Given the description of an element on the screen output the (x, y) to click on. 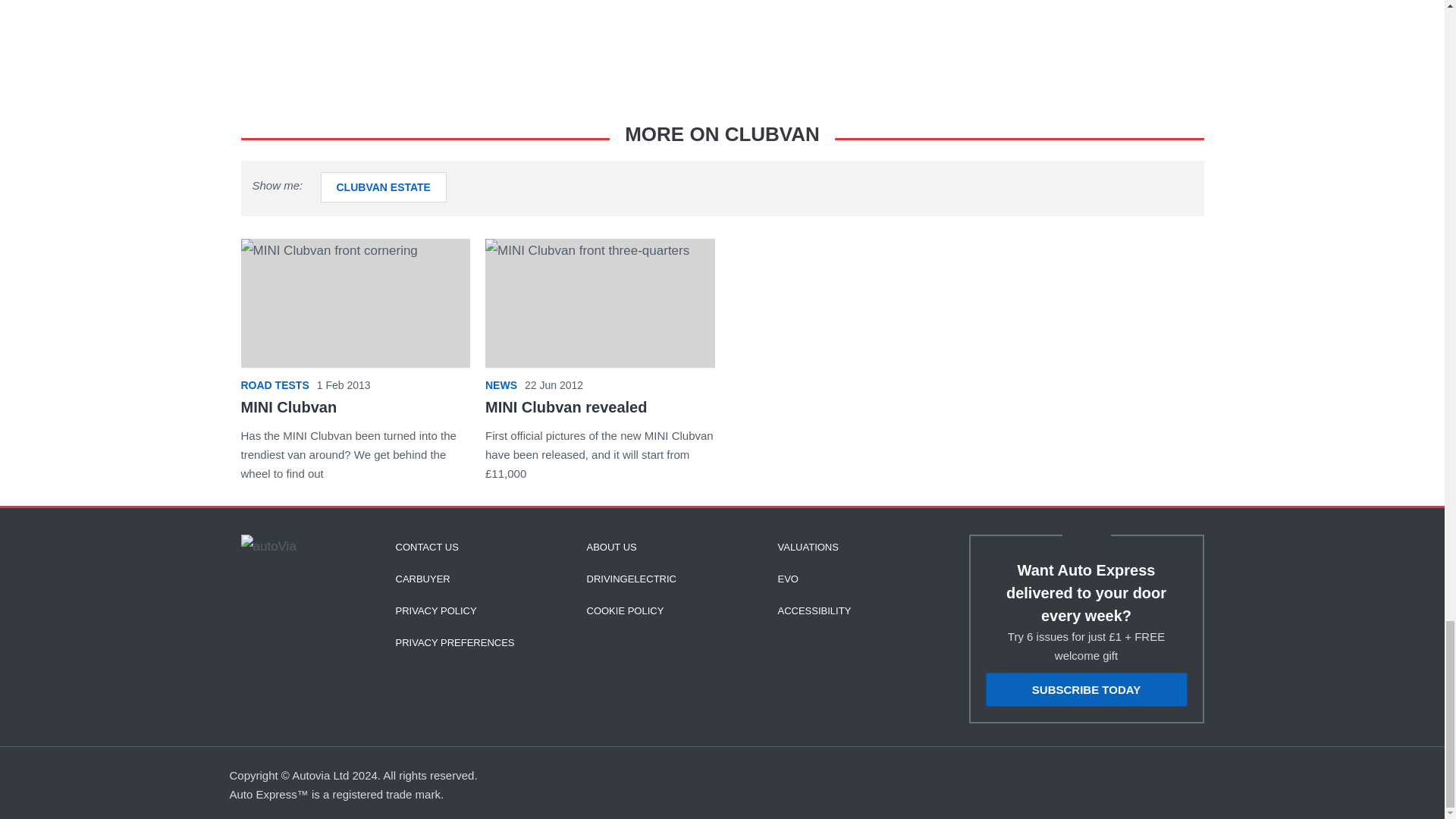
SUBSCRIBE TODAY (1086, 689)
